Given the description of an element on the screen output the (x, y) to click on. 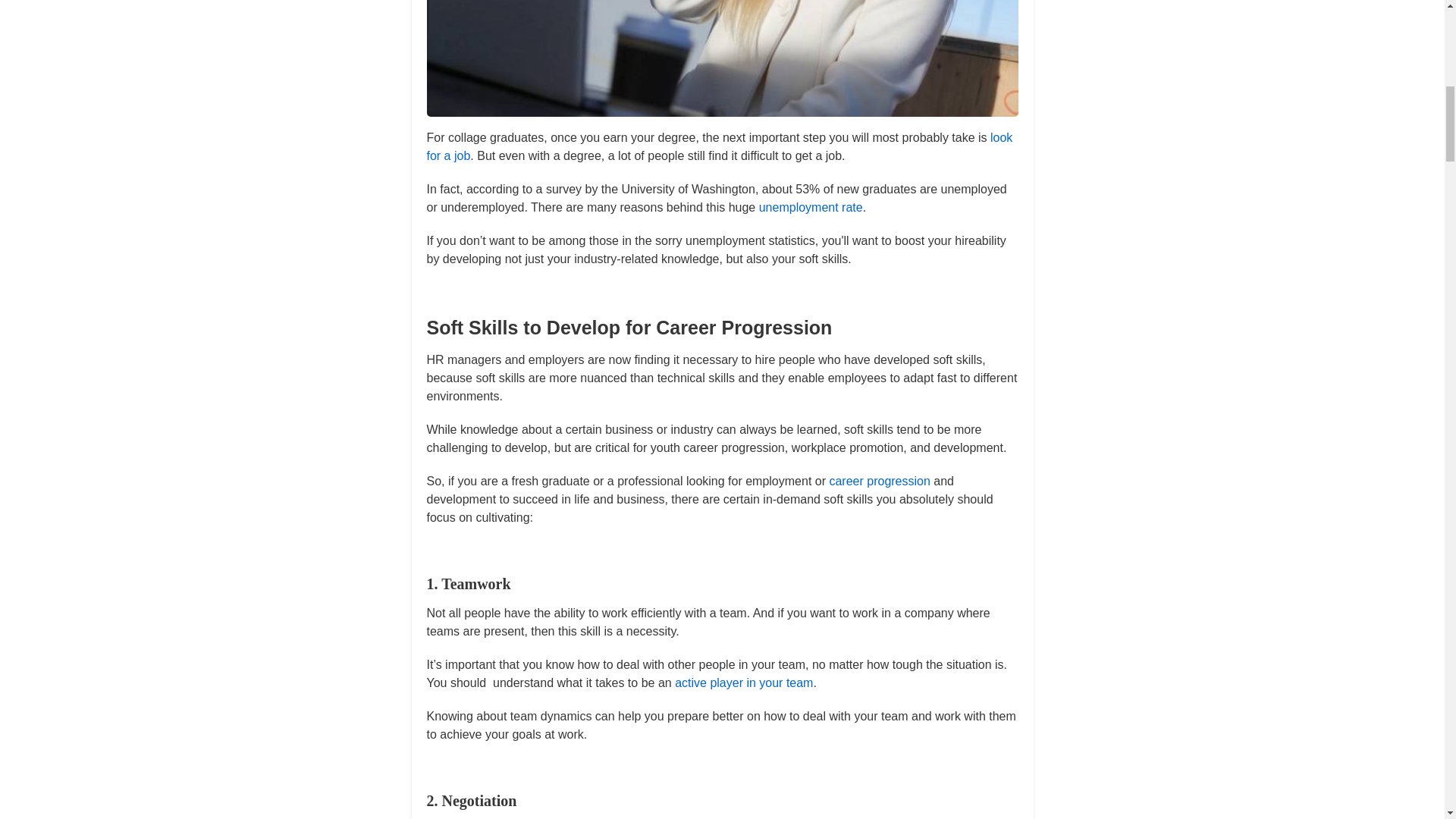
career progression (879, 481)
look for a job (718, 146)
active player in your team (743, 682)
unemployment rate (810, 206)
